Given the description of an element on the screen output the (x, y) to click on. 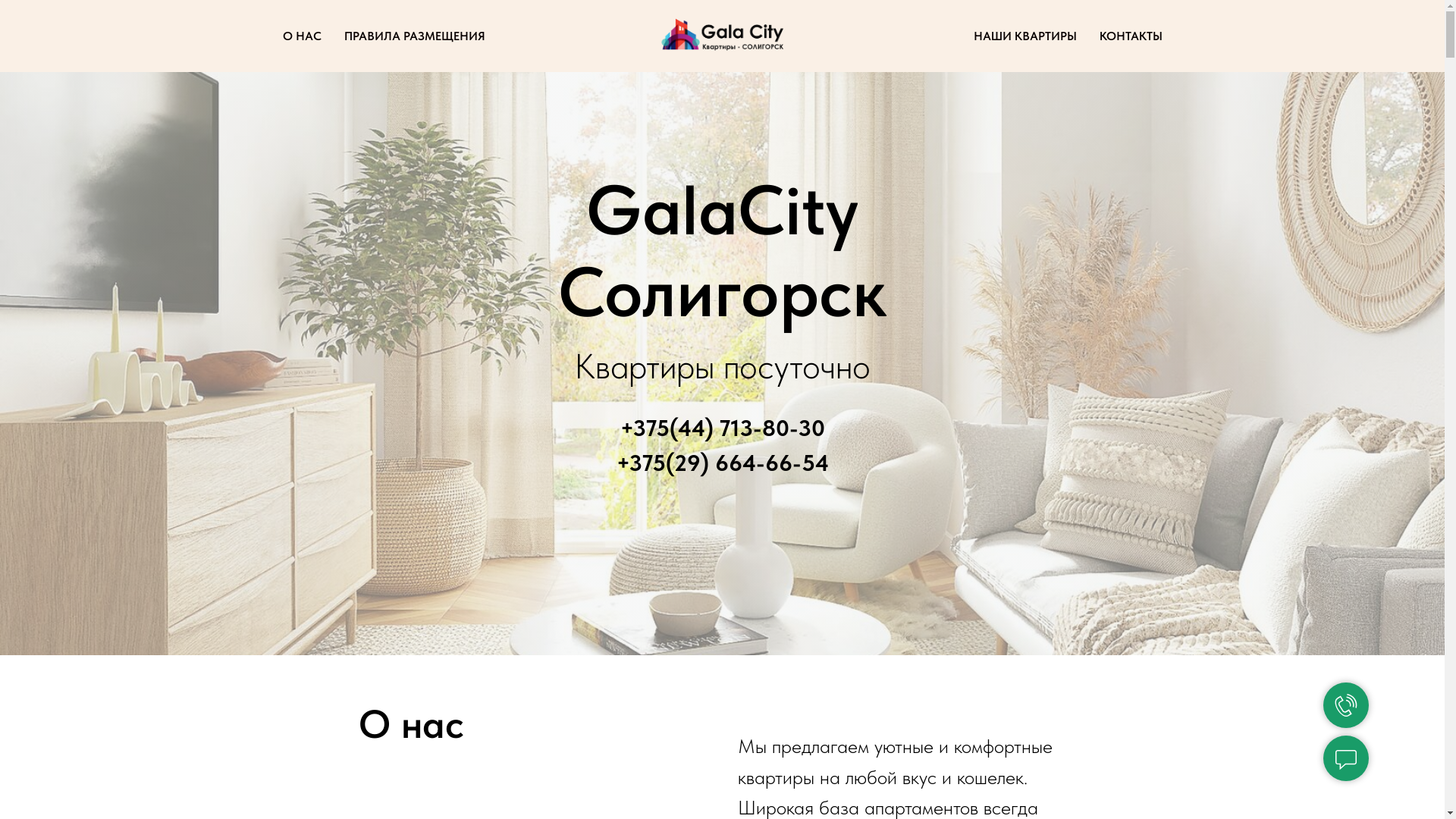
+375(44) 713-80-30 Element type: text (722, 427)
+375(29) 664-66-54 Element type: text (721, 462)
